Given the description of an element on the screen output the (x, y) to click on. 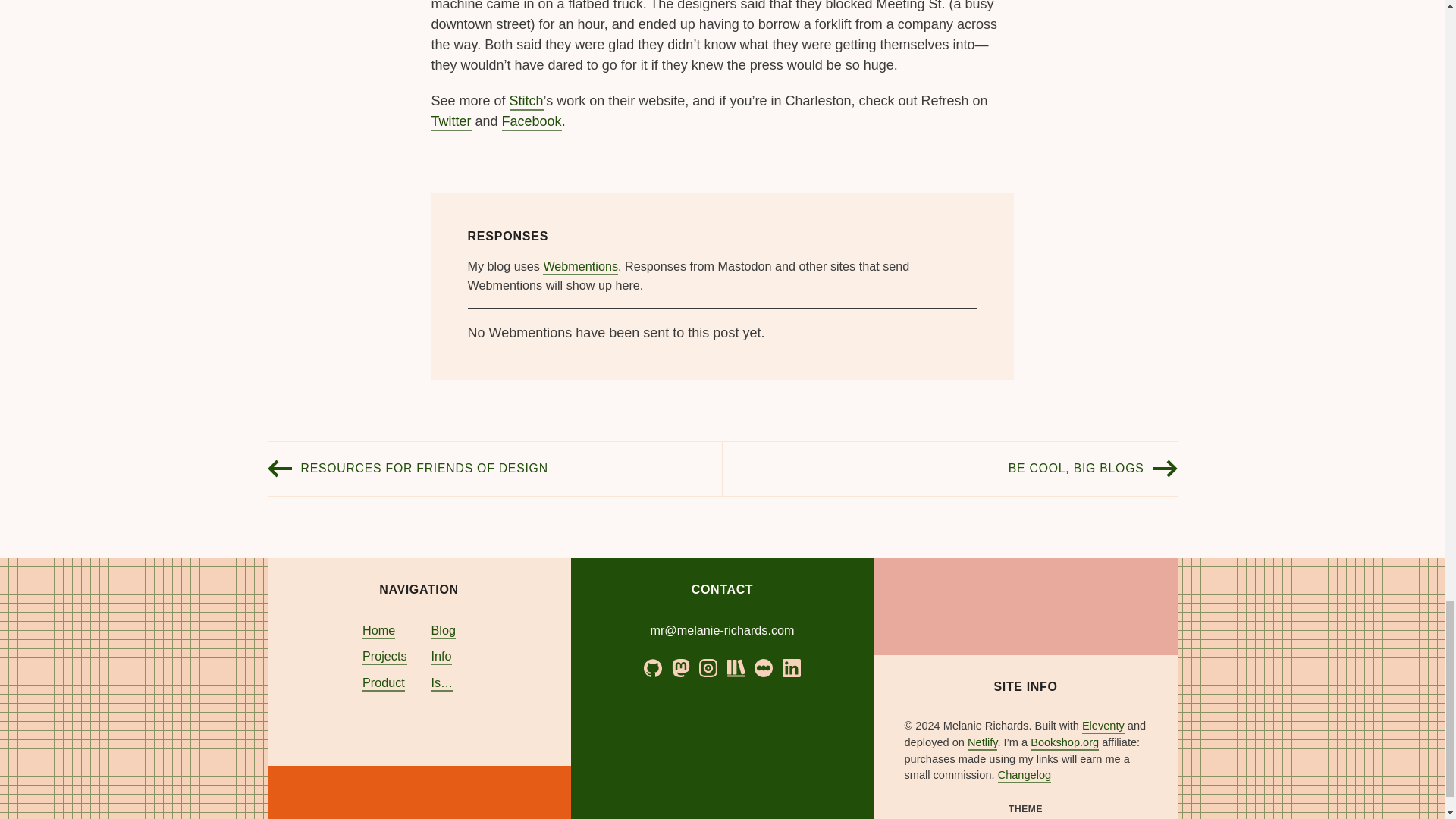
Info (440, 657)
Letterboxd (763, 672)
LinkedIn (791, 668)
Mastodon (680, 668)
Facebook (532, 122)
Twitter (450, 122)
Bookshop.org (1064, 743)
Instagram (707, 672)
Instagram (707, 668)
Netlify (982, 743)
Github (652, 672)
Mastodon (680, 672)
RESOURCES FOR FRIENDS OF DESIGN (423, 469)
Projects (384, 657)
Github (652, 668)
